Given the description of an element on the screen output the (x, y) to click on. 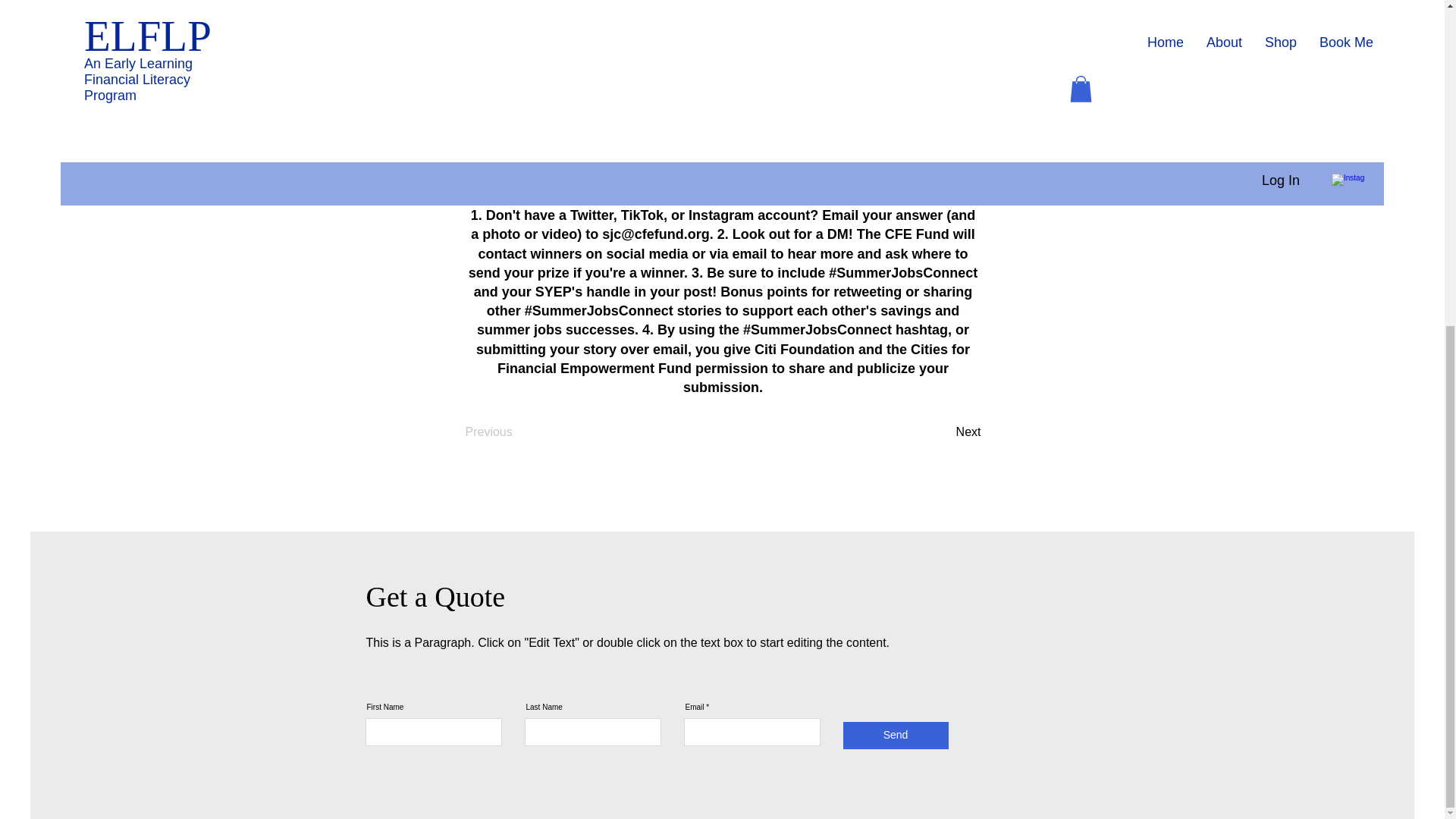
Next (943, 431)
Previous (515, 431)
Send (896, 735)
Prompt 3 - Summer Savings Goal.png (721, 79)
